Given the description of an element on the screen output the (x, y) to click on. 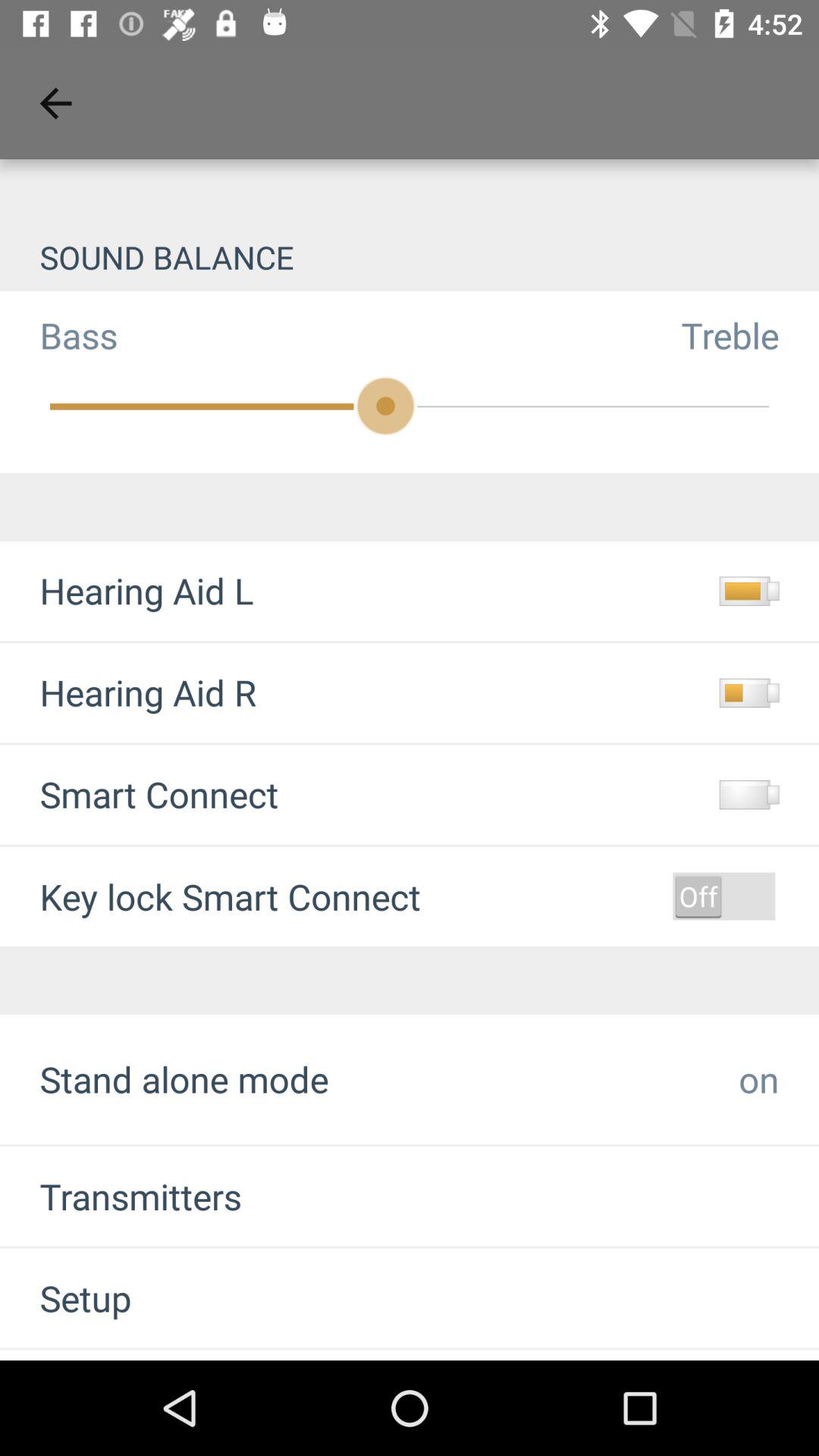
tap key lock smart item (229, 896)
